Given the description of an element on the screen output the (x, y) to click on. 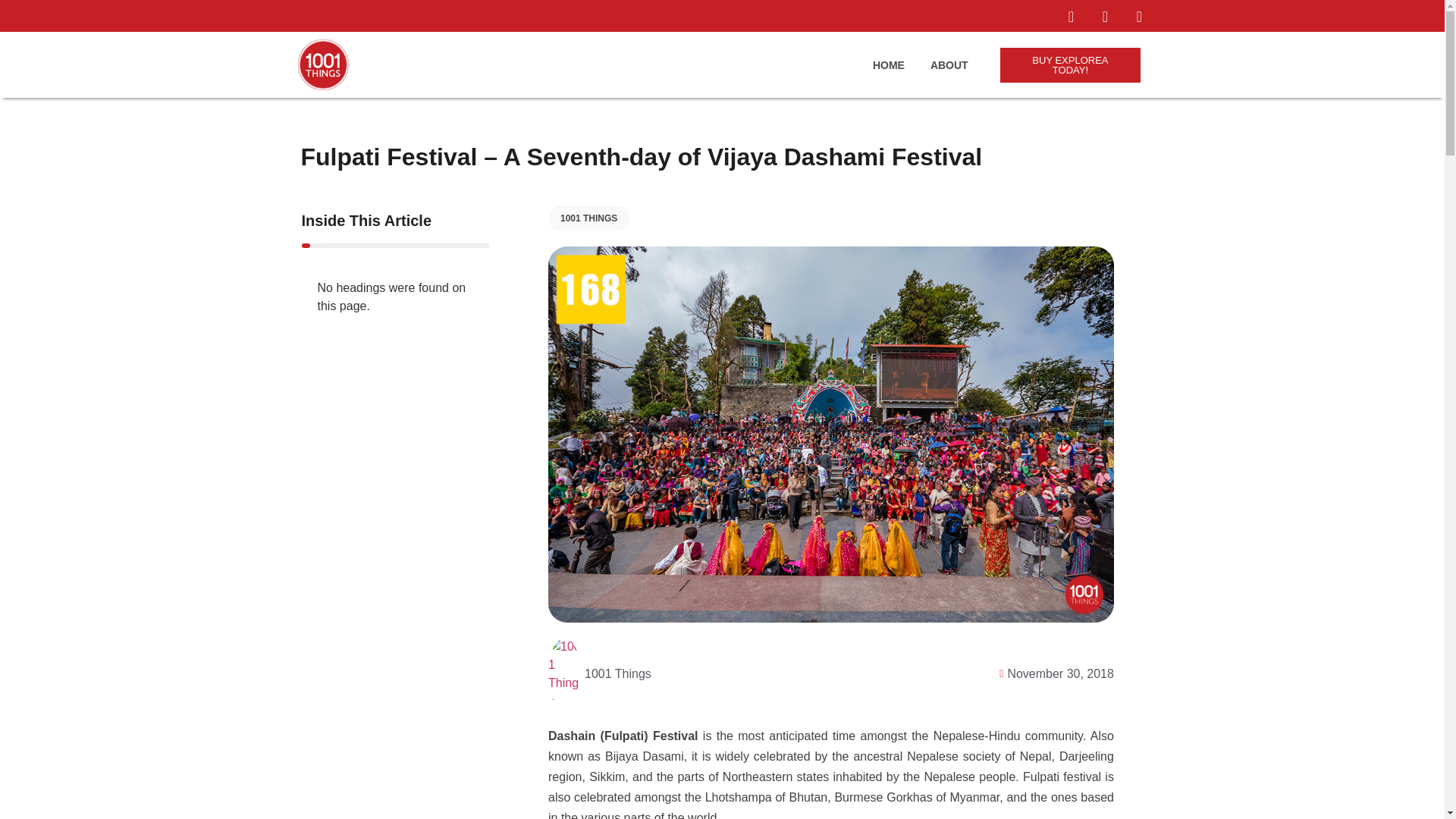
November 30, 2018 (1052, 670)
HOME (887, 63)
ABOUT (948, 63)
1001 Things (599, 670)
BUY EXPLOREA TODAY! (1070, 63)
